Given the description of an element on the screen output the (x, y) to click on. 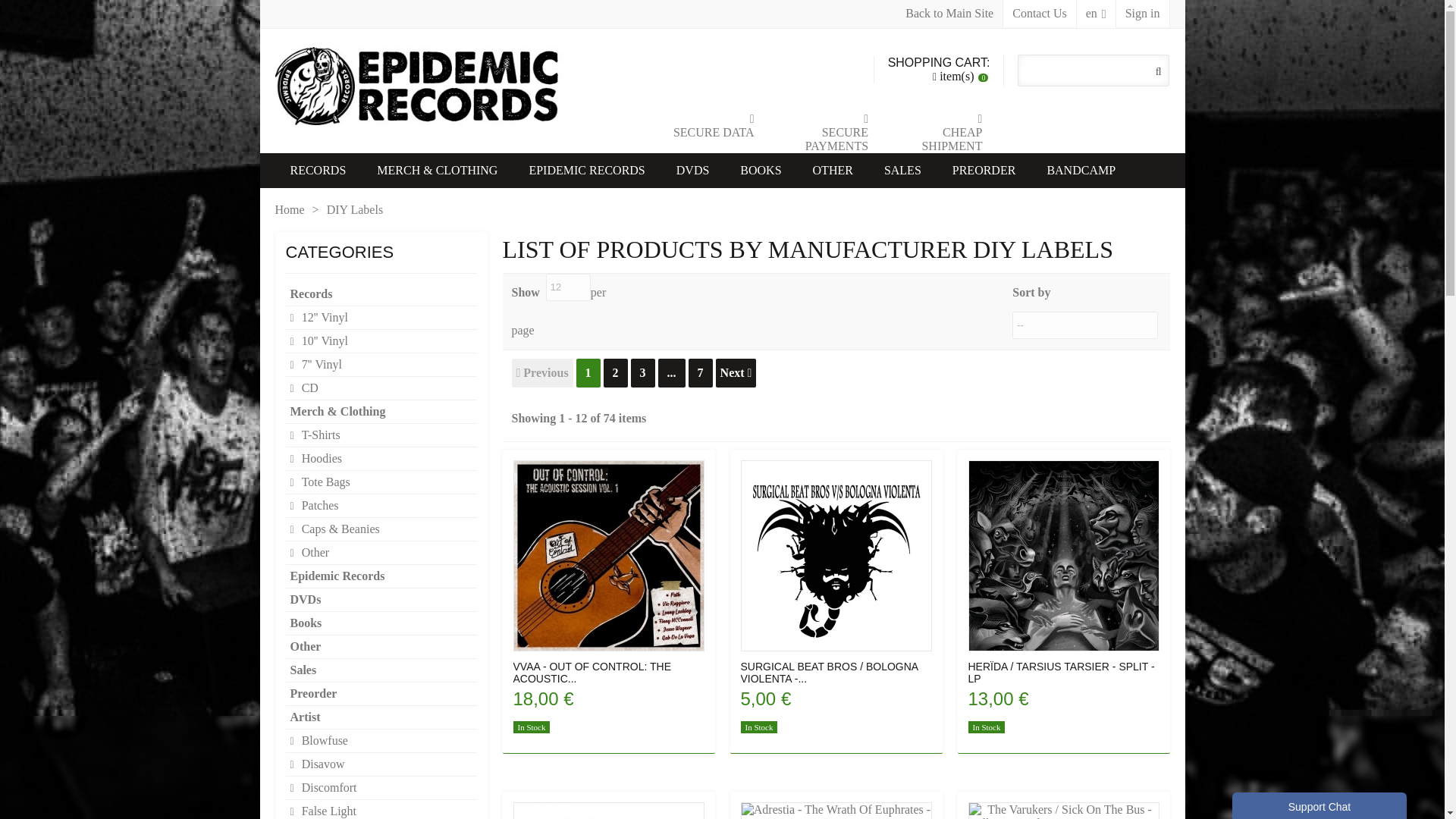
Tote Bags (380, 482)
Home (289, 209)
Records (318, 170)
View my shopping cart (939, 69)
T-Shirts (380, 435)
BANDCAMP (1080, 170)
10'' Vinyl (380, 341)
Records (380, 294)
Epidemic Records Main Site (949, 13)
BOOKS (760, 170)
